Given the description of an element on the screen output the (x, y) to click on. 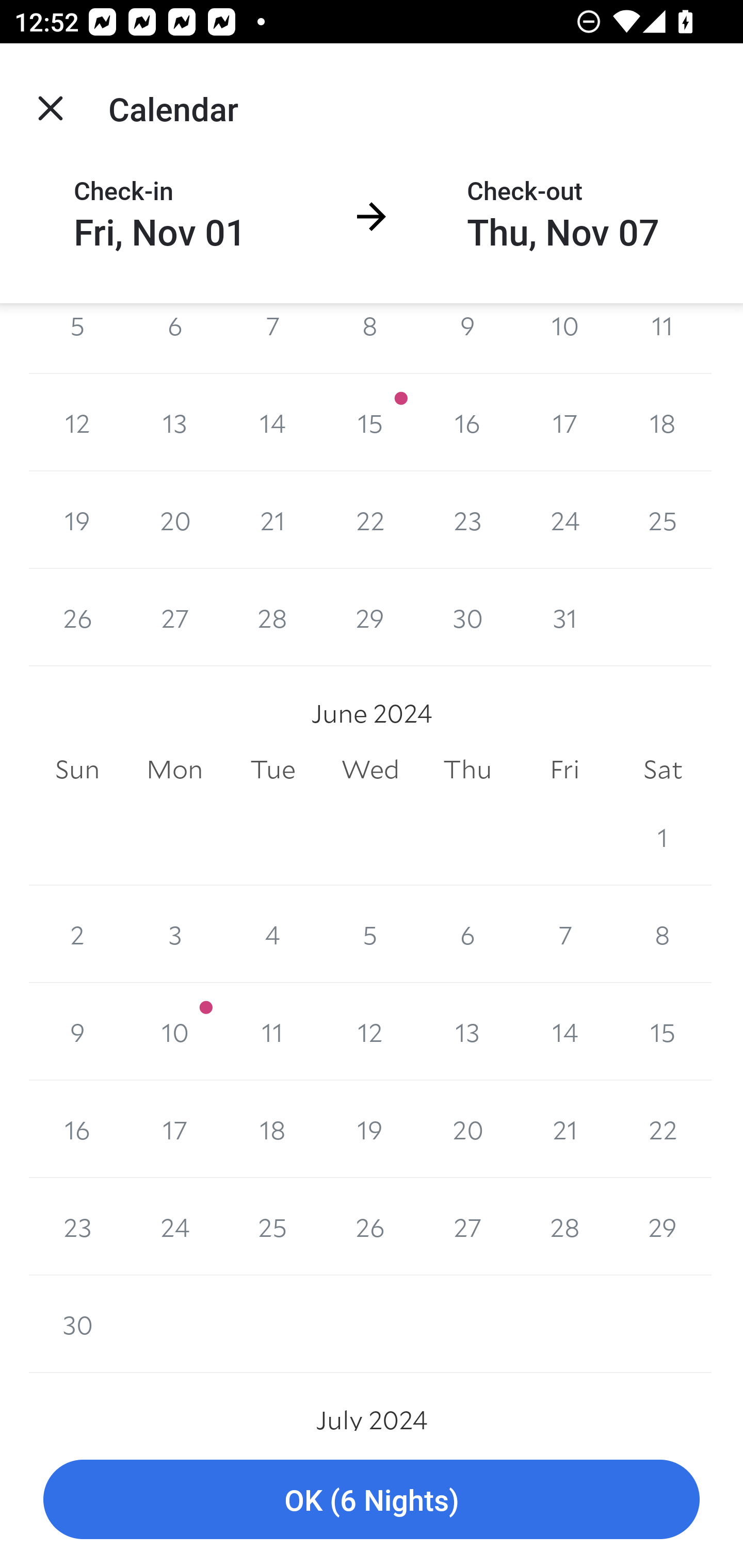
5 5 May 2024 (77, 337)
6 6 May 2024 (174, 337)
7 7 May 2024 (272, 337)
8 8 May 2024 (370, 337)
9 9 May 2024 (467, 337)
10 10 May 2024 (564, 337)
11 11 May 2024 (662, 337)
12 12 May 2024 (77, 422)
13 13 May 2024 (174, 422)
14 14 May 2024 (272, 422)
15 15 May 2024 (370, 422)
16 16 May 2024 (467, 422)
17 17 May 2024 (564, 422)
18 18 May 2024 (662, 422)
19 19 May 2024 (77, 520)
20 20 May 2024 (174, 520)
21 21 May 2024 (272, 520)
22 22 May 2024 (370, 520)
23 23 May 2024 (467, 520)
24 24 May 2024 (564, 520)
25 25 May 2024 (662, 520)
26 26 May 2024 (77, 617)
27 27 May 2024 (174, 617)
28 28 May 2024 (272, 617)
29 29 May 2024 (370, 617)
30 30 May 2024 (467, 617)
31 31 May 2024 (564, 617)
Sun (77, 769)
Mon (174, 769)
Tue (272, 769)
Wed (370, 769)
Thu (467, 769)
Fri (564, 769)
Sat (662, 769)
1 1 June 2024 (662, 836)
2 2 June 2024 (77, 934)
3 3 June 2024 (174, 934)
4 4 June 2024 (272, 934)
5 5 June 2024 (370, 934)
6 6 June 2024 (467, 934)
7 7 June 2024 (564, 934)
8 8 June 2024 (662, 934)
9 9 June 2024 (77, 1031)
10 10 June 2024 (174, 1031)
11 11 June 2024 (272, 1031)
12 12 June 2024 (370, 1031)
13 13 June 2024 (467, 1031)
14 14 June 2024 (564, 1031)
15 15 June 2024 (662, 1031)
16 16 June 2024 (77, 1128)
17 17 June 2024 (174, 1128)
18 18 June 2024 (272, 1128)
19 19 June 2024 (370, 1128)
20 20 June 2024 (467, 1128)
21 21 June 2024 (564, 1128)
22 22 June 2024 (662, 1128)
23 23 June 2024 (77, 1225)
24 24 June 2024 (174, 1225)
25 25 June 2024 (272, 1225)
26 26 June 2024 (370, 1225)
27 27 June 2024 (467, 1225)
28 28 June 2024 (564, 1225)
29 29 June 2024 (662, 1225)
30 30 June 2024 (77, 1323)
OK (6 Nights) (371, 1499)
